Given the description of an element on the screen output the (x, y) to click on. 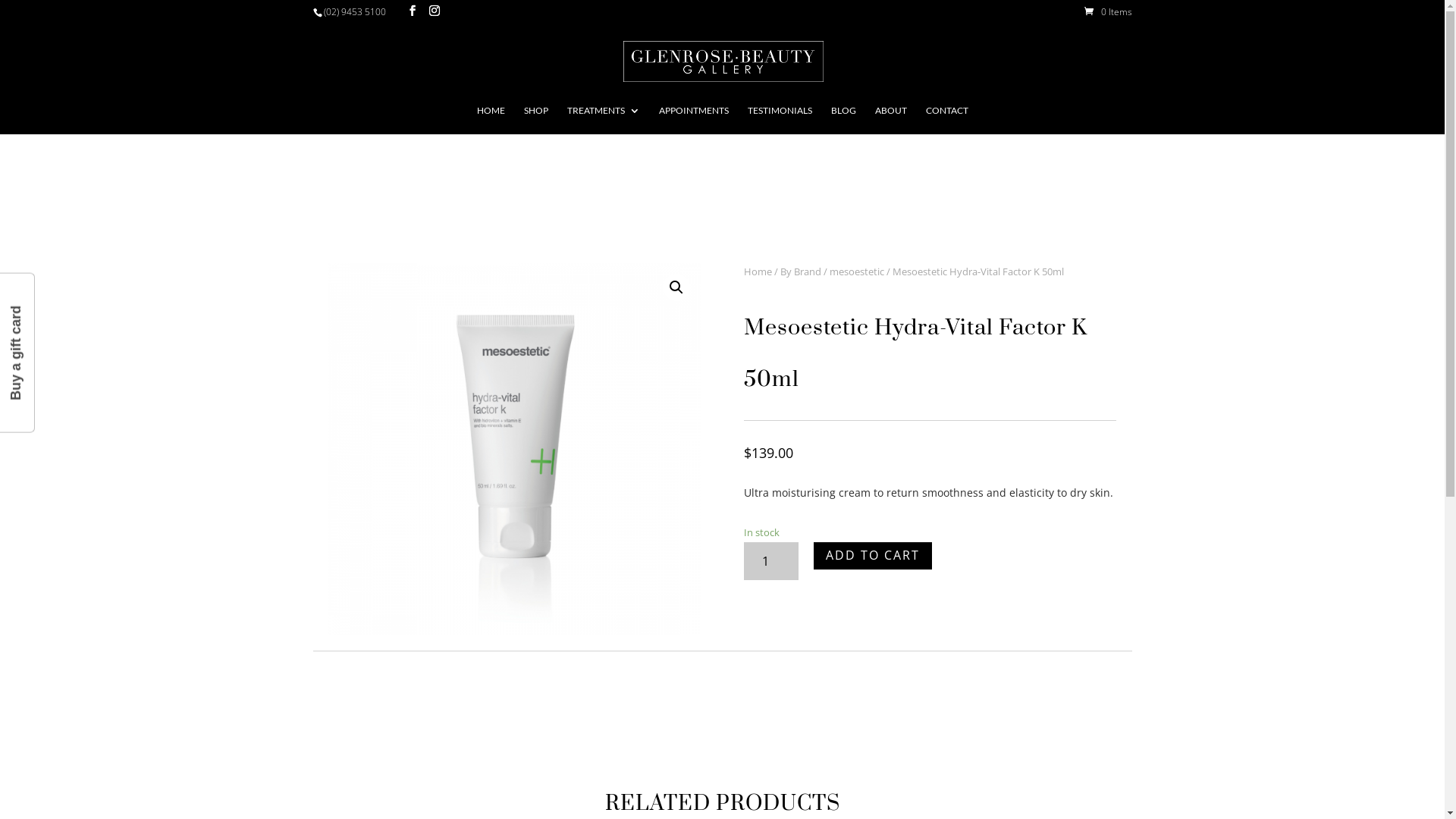
ADD TO CART Element type: text (872, 556)
vitaly Element type: hover (513, 449)
HOME Element type: text (490, 119)
SHOP Element type: text (535, 119)
TESTIMONIALS Element type: text (779, 119)
TREATMENTS Element type: text (603, 119)
Home Element type: text (757, 271)
APPOINTMENTS Element type: text (693, 119)
CONTACT Element type: text (946, 119)
0 Items Element type: text (1108, 11)
By Brand Element type: text (800, 271)
Qty Element type: hover (770, 561)
mesoestetic Element type: text (856, 271)
BLOG Element type: text (843, 119)
ABOUT Element type: text (890, 119)
